Given the description of an element on the screen output the (x, y) to click on. 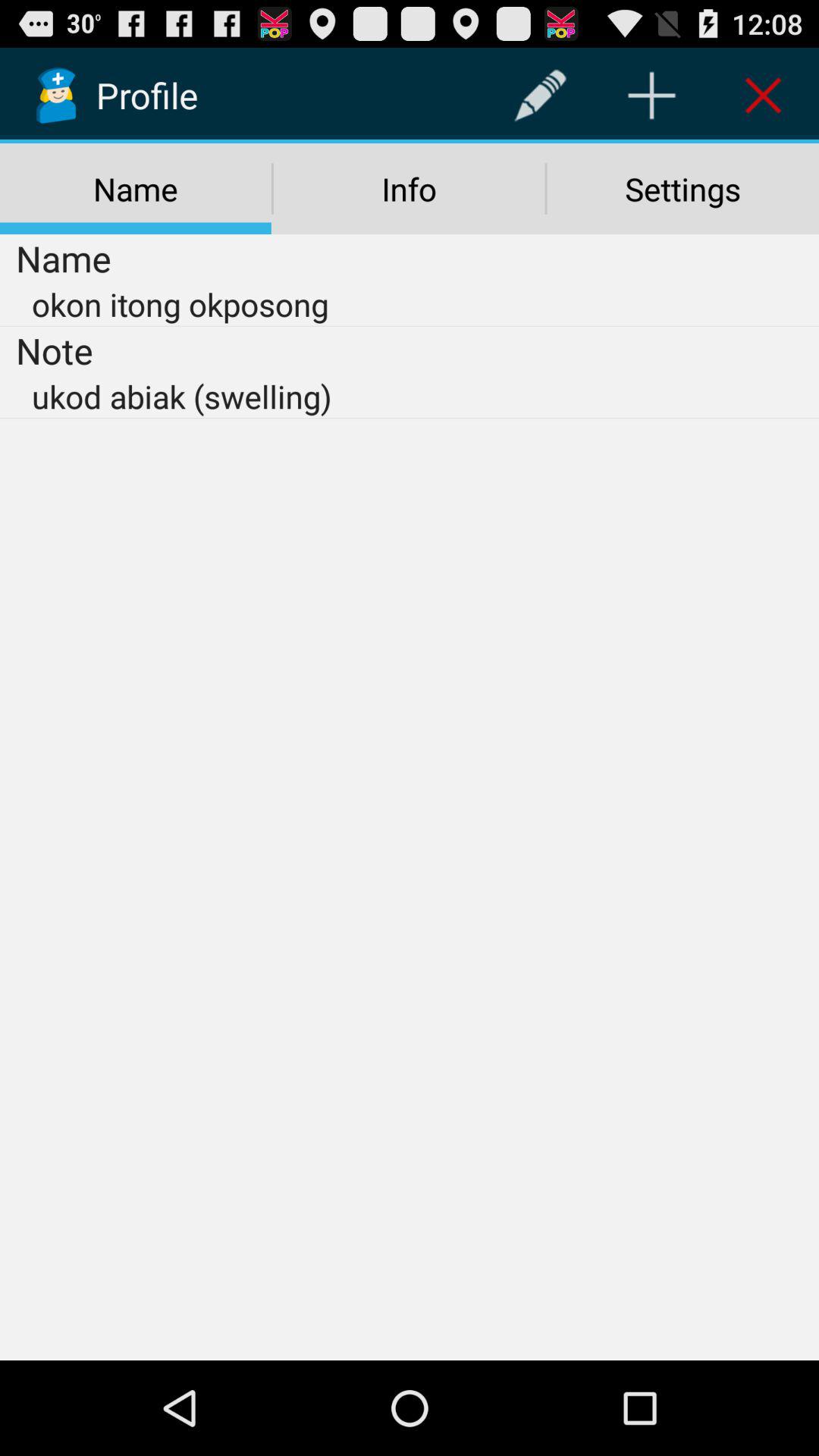
select settings icon (683, 188)
